Given the description of an element on the screen output the (x, y) to click on. 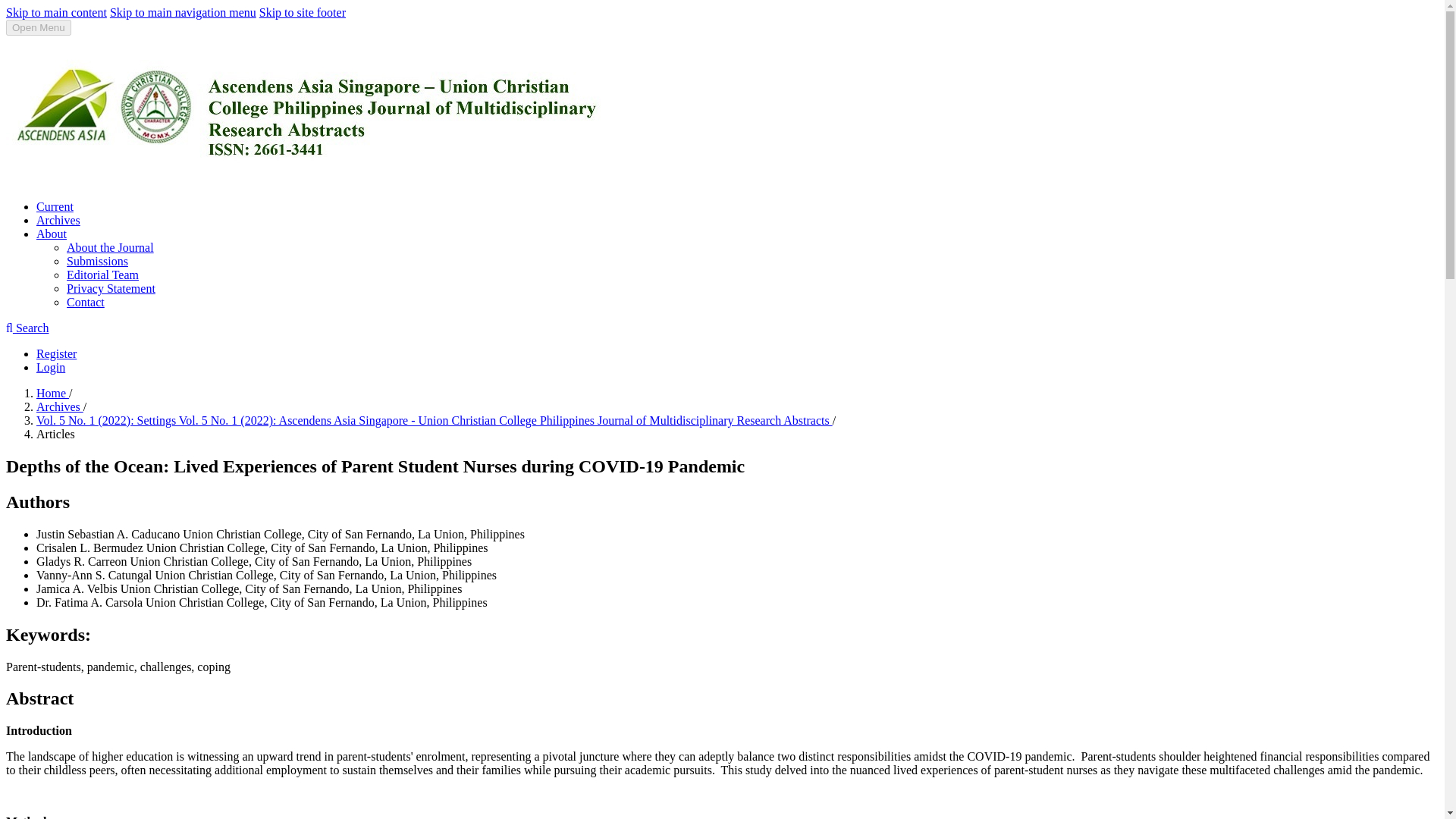
Open Menu (38, 27)
About the Journal (110, 246)
Skip to main navigation menu (183, 11)
Login (50, 367)
Archives (58, 219)
Search (26, 327)
Register (56, 353)
Editorial Team (102, 274)
Home (52, 392)
Submissions (97, 260)
